Given the description of an element on the screen output the (x, y) to click on. 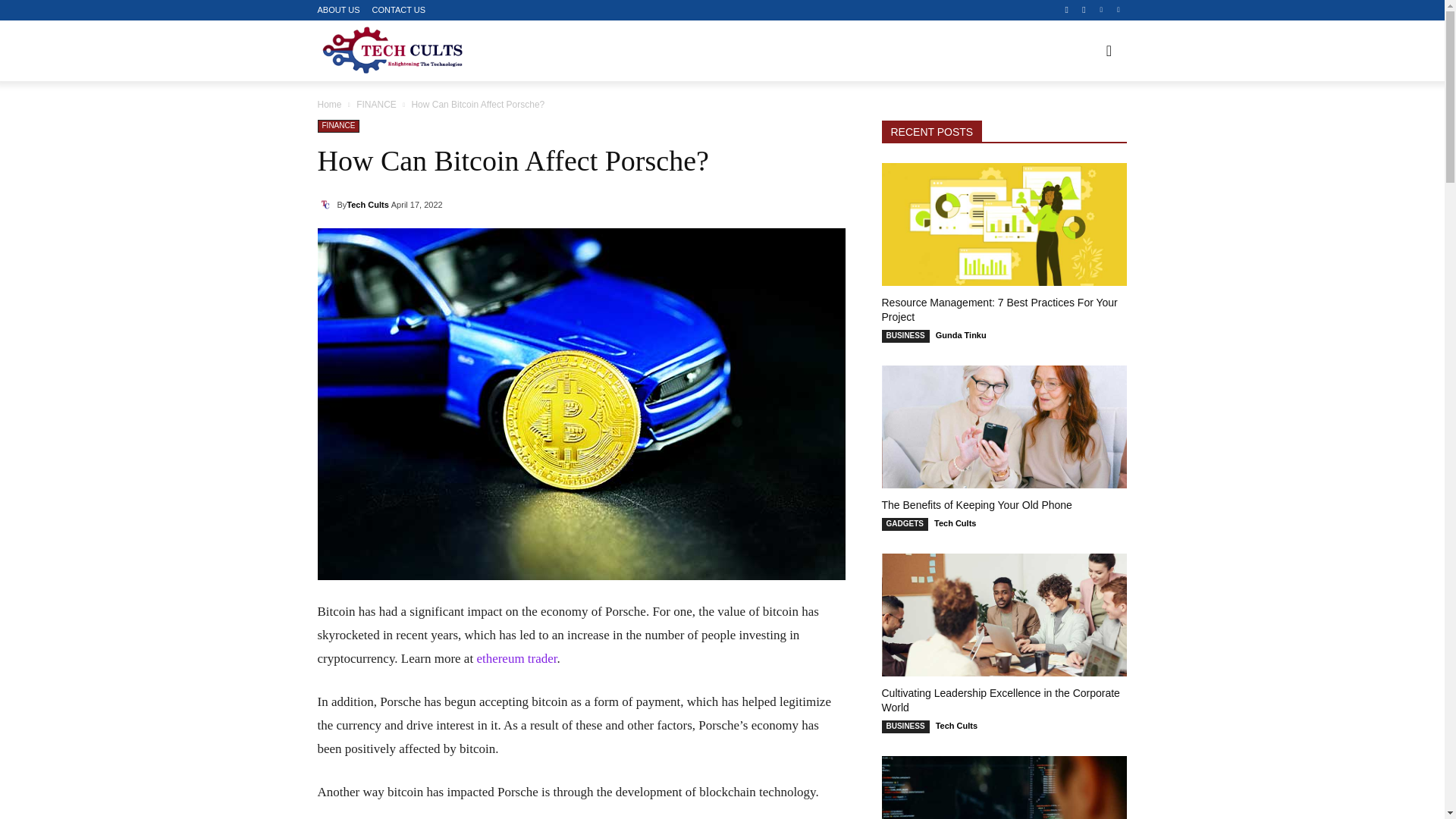
CONTACT US (399, 9)
ABOUT US (338, 9)
View all posts in FINANCE (376, 104)
